Given the description of an element on the screen output the (x, y) to click on. 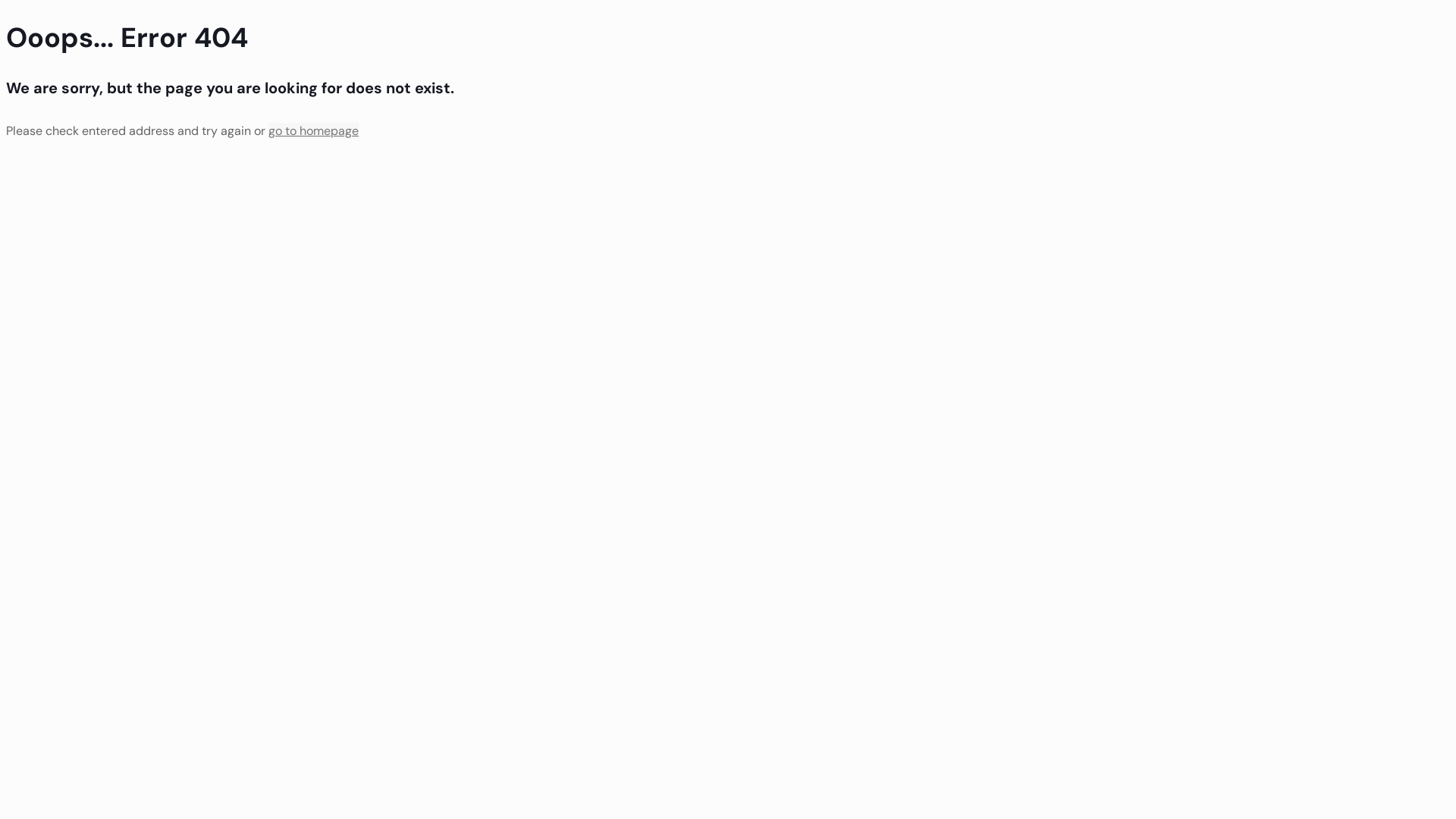
go to homepage Element type: text (313, 130)
